Given the description of an element on the screen output the (x, y) to click on. 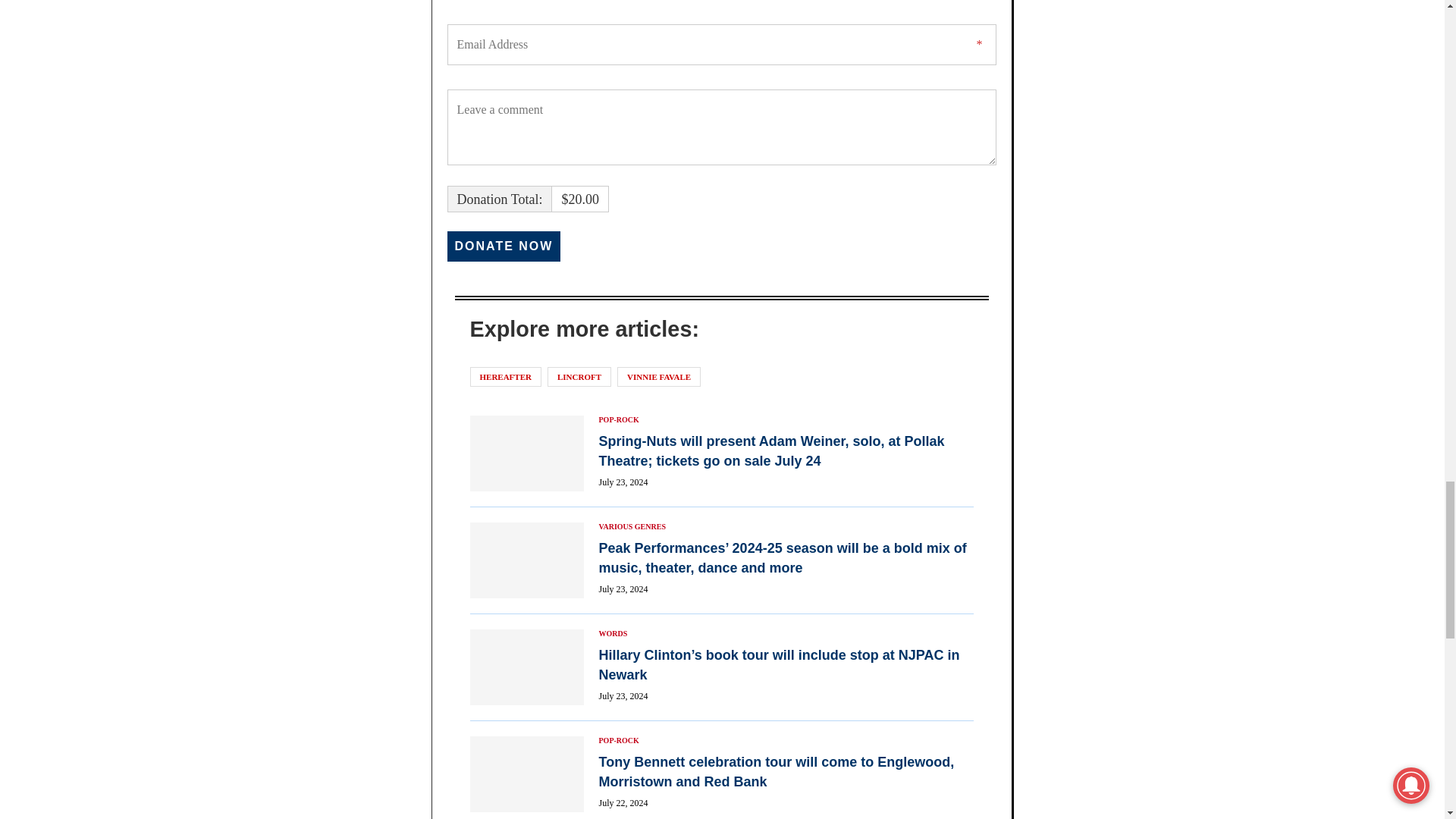
Donate Now (503, 245)
